Given the description of an element on the screen output the (x, y) to click on. 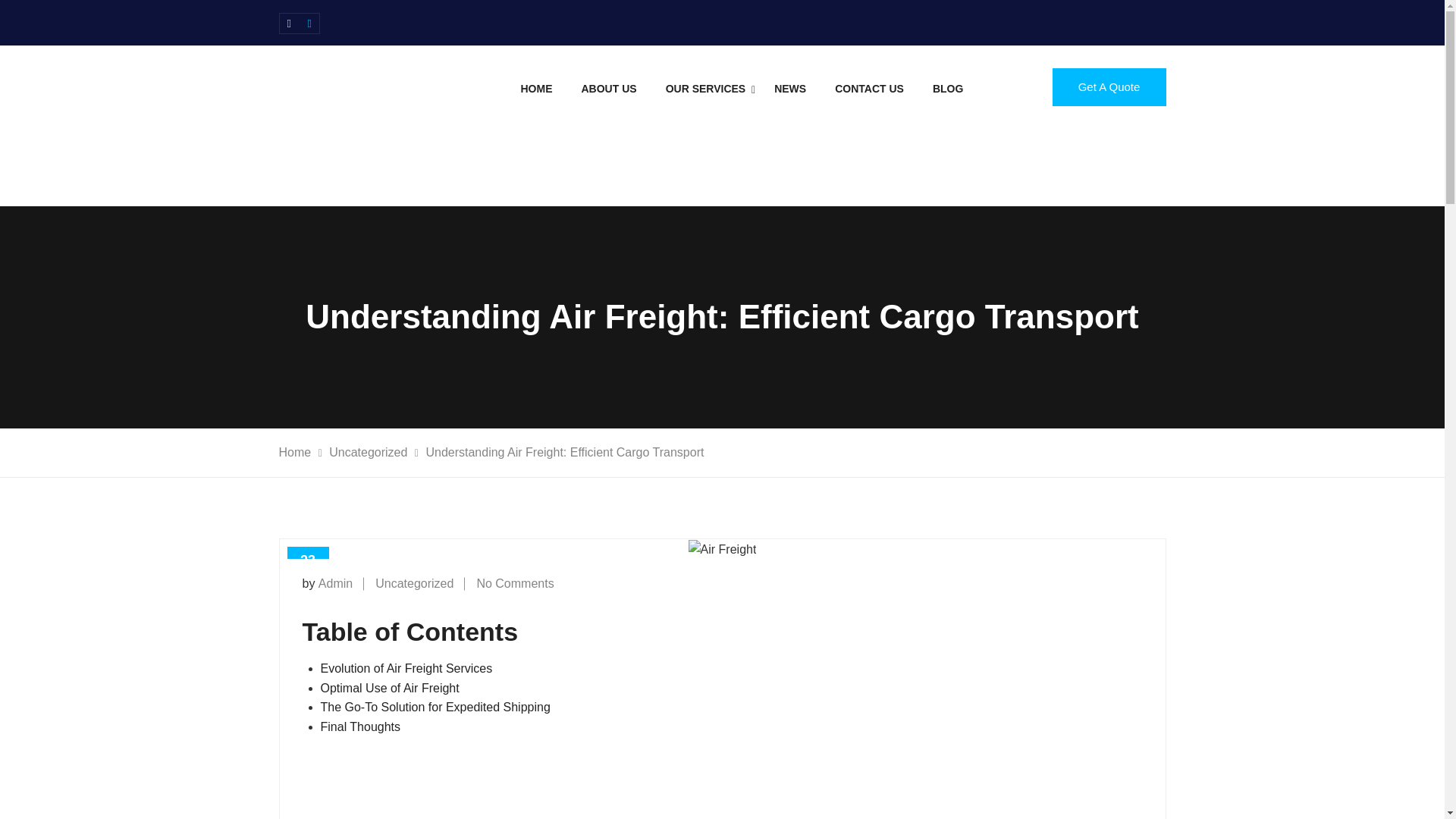
Admin (335, 583)
Truck Services (839, 588)
Break Bulk (839, 557)
Air Freight (839, 185)
Uncategorized (413, 583)
Evolution of Air Freight Services (406, 667)
Cross Stuffing (839, 371)
CONTACT US (869, 88)
The Go-To Solution for Expedited Shipping (435, 707)
